Given the description of an element on the screen output the (x, y) to click on. 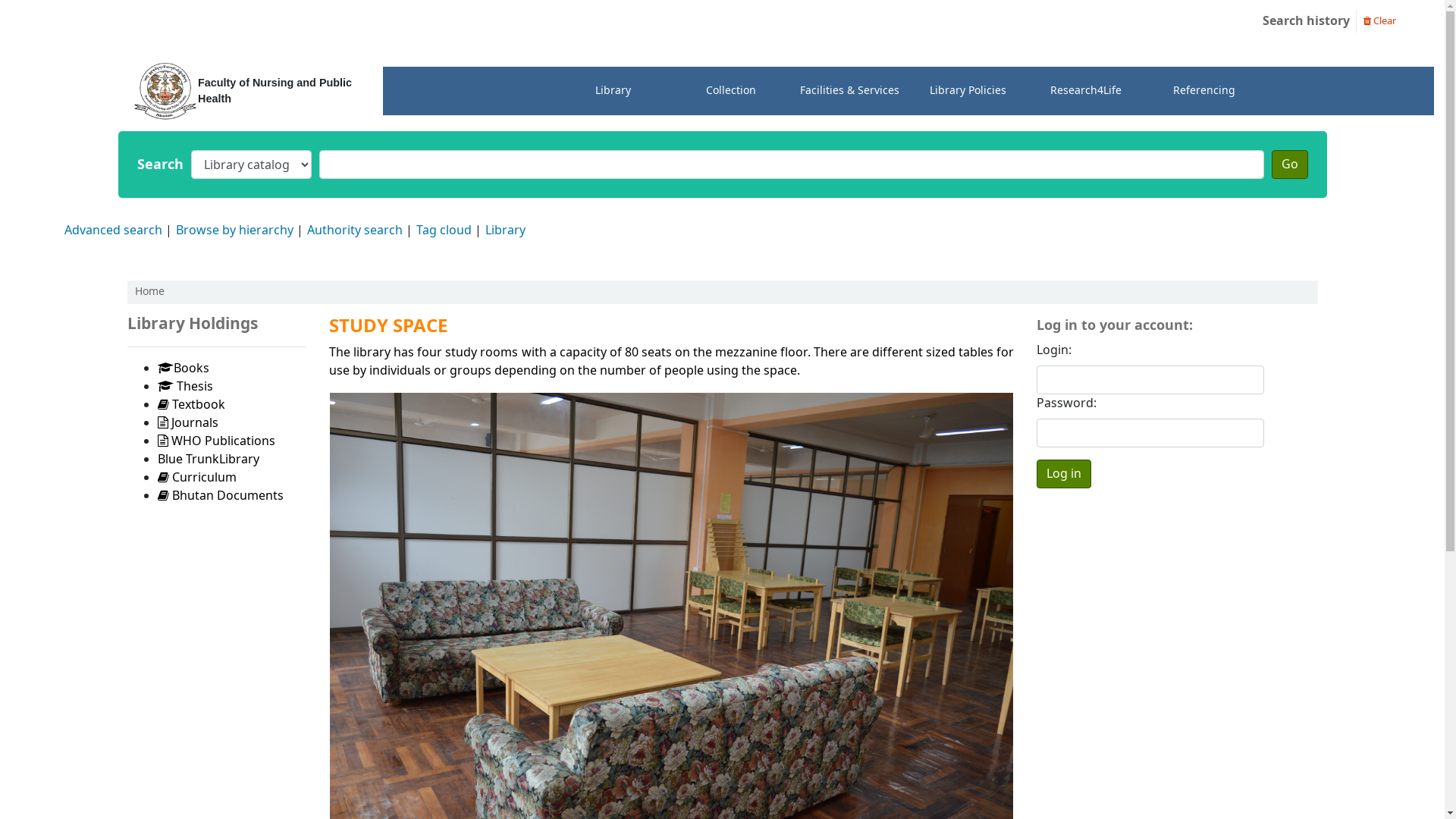
Facilities & Services Element type: text (849, 90)
Advanced search Element type: text (113, 230)
Research4Life Element type: text (1085, 90)
Blue TrunkLibrary Element type: text (208, 459)
Journals Element type: text (187, 423)
Curriculum Element type: text (196, 477)
Library Element type: text (612, 90)
WHO Publications Element type: text (216, 441)
Library Policies Element type: text (967, 90)
Home Element type: text (149, 291)
FNPH LIBRARY Element type: text (80, 21)
Search history Element type: text (1305, 21)
Bhutan Documents Element type: text (220, 495)
Books Element type: text (183, 368)
Browse by hierarchy Element type: text (234, 230)
Referencing Element type: text (1204, 90)
Clear Element type: text (1379, 20)
Textbook Element type: text (191, 404)
Authority search Element type: text (354, 230)
Go Element type: text (1288, 164)
Collection Element type: text (730, 90)
Log in Element type: text (1063, 473)
Type search term Element type: hover (790, 164)
Thesis Element type: text (185, 386)
Library Element type: text (505, 230)
Tag cloud Element type: text (443, 230)
